Given the description of an element on the screen output the (x, y) to click on. 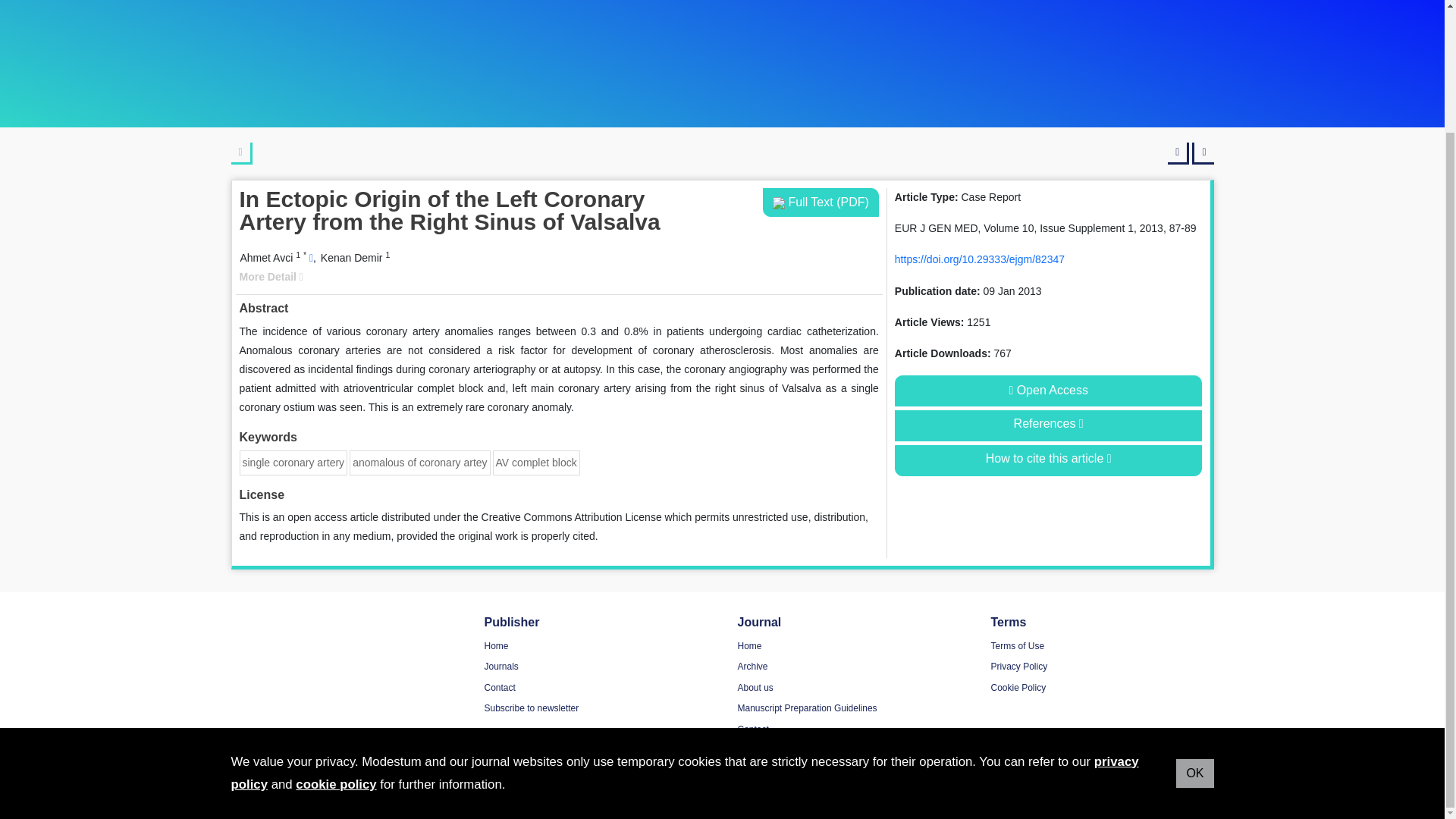
Next article (1202, 153)
Back to article list (240, 153)
anomalous of coronary artey (419, 462)
single coronary artery (294, 462)
Creative Commons Attribution License (571, 517)
AV complet block (536, 462)
References (1048, 425)
Previous article (1178, 153)
